Given the description of an element on the screen output the (x, y) to click on. 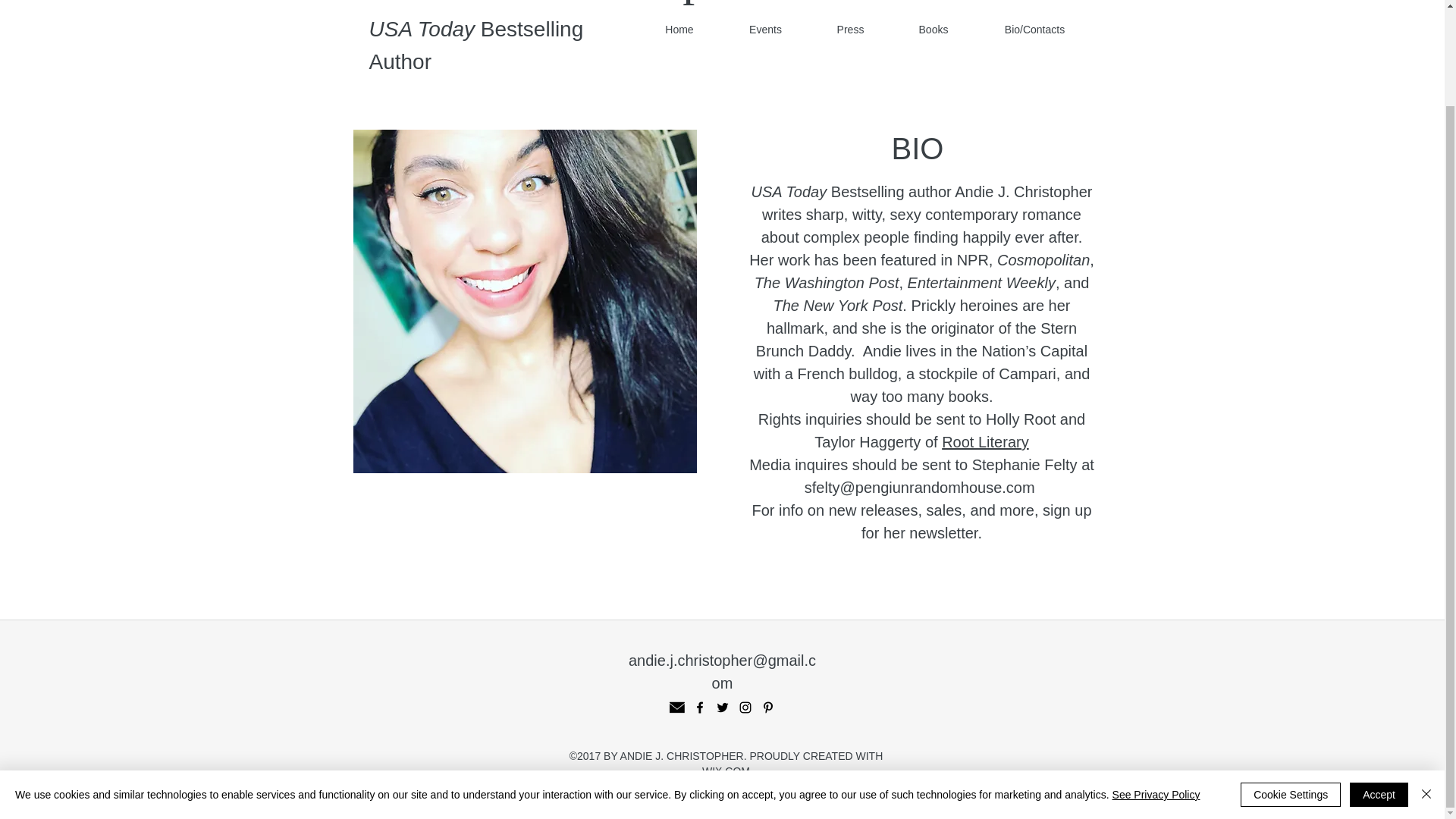
Home (678, 29)
Root Literary (985, 442)
See Privacy Policy (1155, 684)
Privacy Policy (716, 800)
Books (933, 29)
Cookie Settings (1290, 683)
Events (765, 29)
Accept (1378, 683)
newsletter (942, 532)
Press (850, 29)
